Given the description of an element on the screen output the (x, y) to click on. 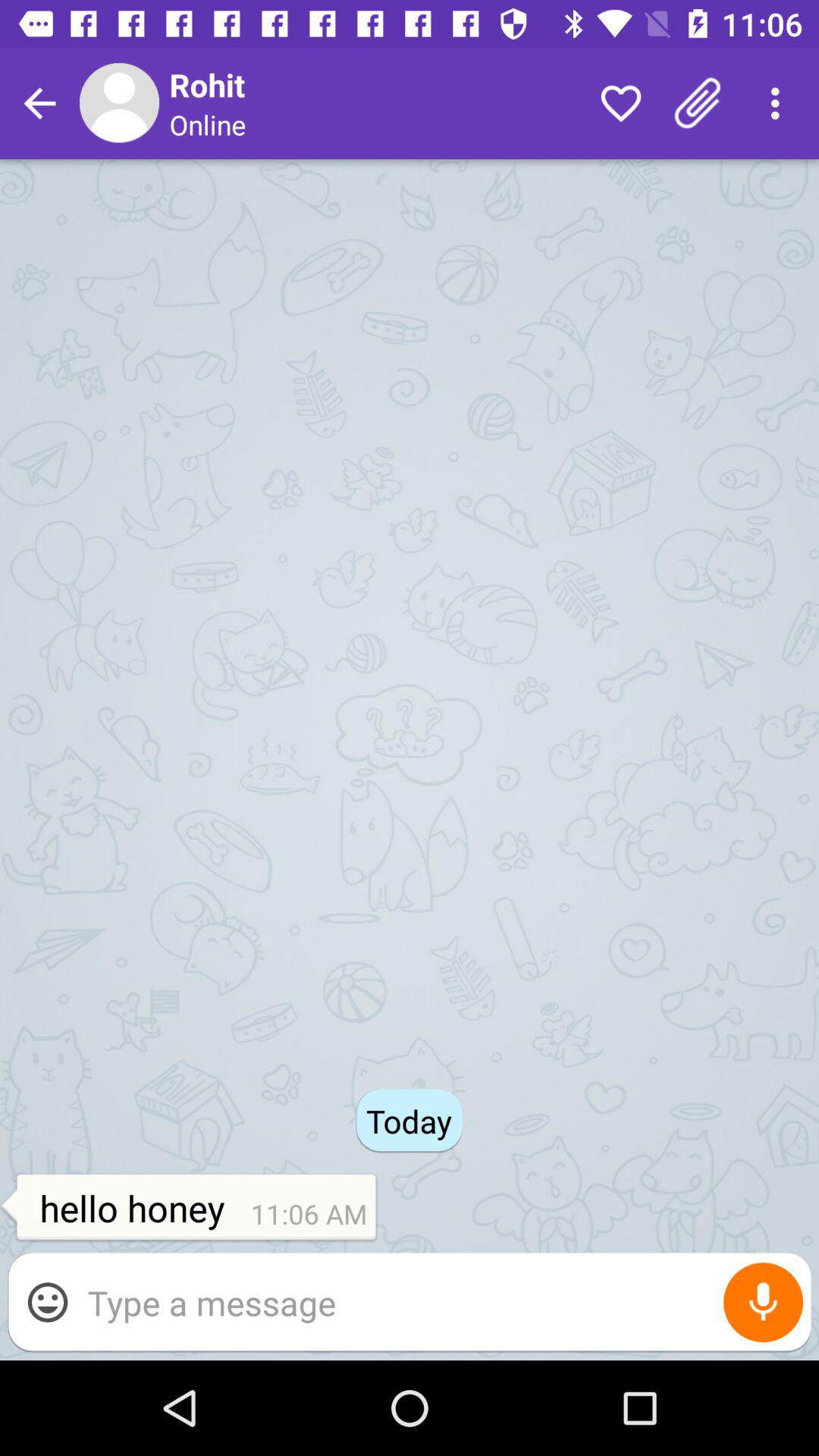
go to previous (39, 103)
